Given the description of an element on the screen output the (x, y) to click on. 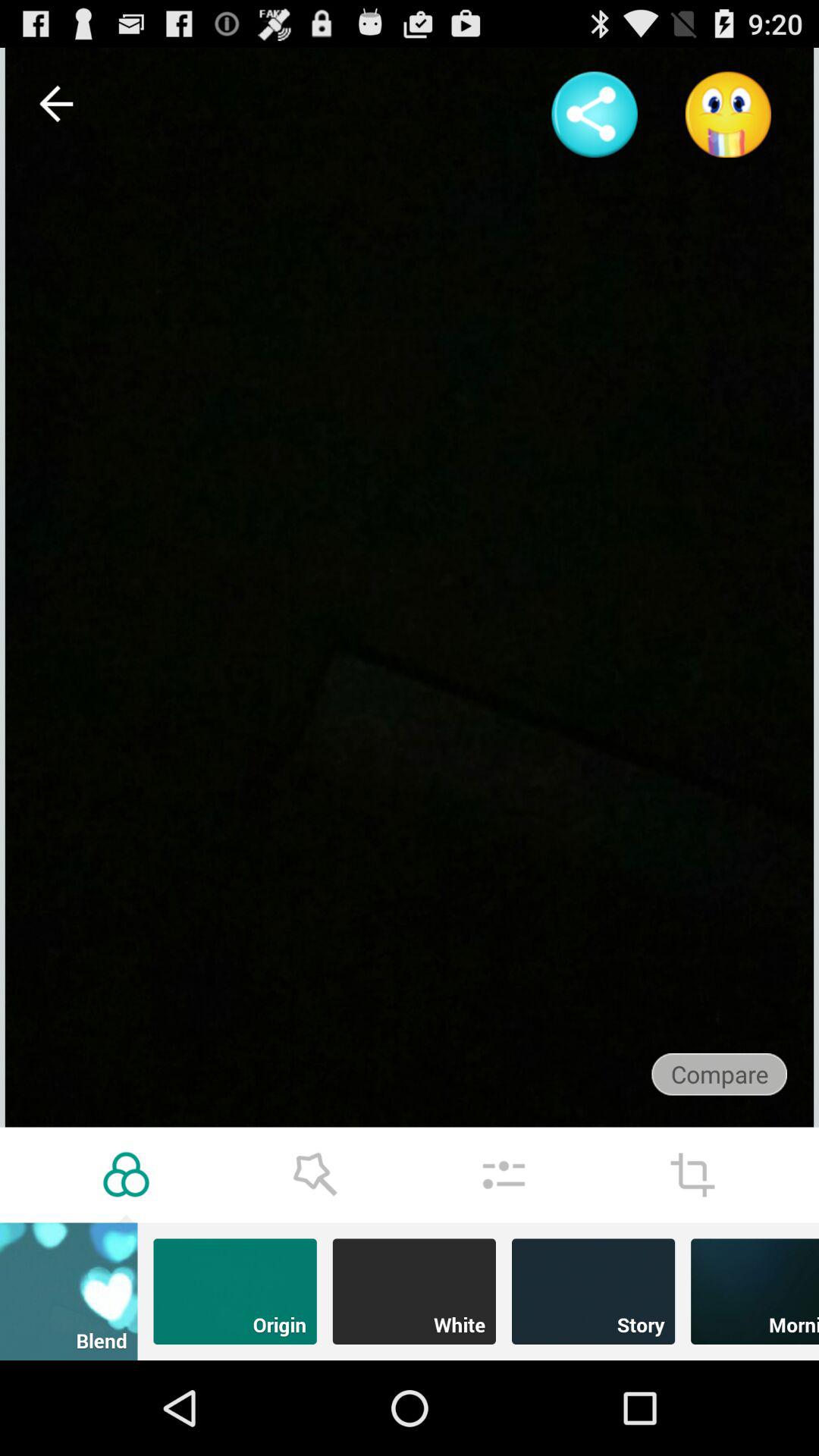
turn off icon above compare icon (728, 114)
